Given the description of an element on the screen output the (x, y) to click on. 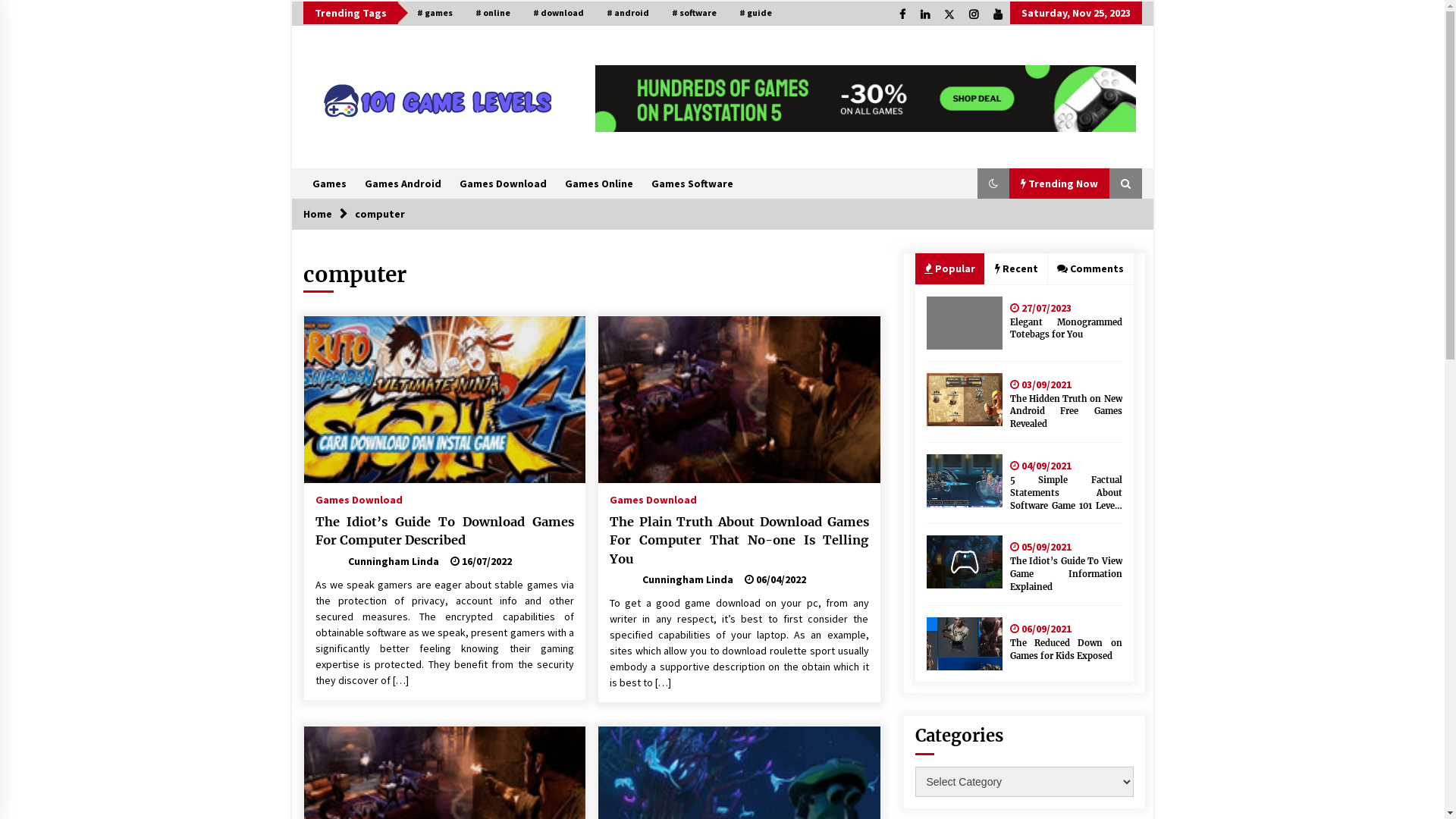
Games Element type: text (329, 183)
The Reduced Down on Games for Kids Exposed Element type: text (1066, 649)
Skip to content Element type: text (291, 0)
Games Software Element type: text (691, 183)
Cunningham Linda Element type: text (377, 560)
Games Android Element type: text (401, 183)
# games Element type: text (433, 12)
# software Element type: text (693, 12)
# online Element type: text (492, 12)
Comments Element type: text (1090, 268)
Home Element type: text (317, 213)
Games Online Element type: text (598, 183)
# android Element type: text (626, 12)
# guide Element type: text (755, 12)
Elegant Monogrammed Totebags for You Element type: text (1066, 329)
Cunningham Linda Element type: text (671, 579)
Popular Element type: text (949, 268)
Games Download Element type: text (502, 183)
The Hidden Truth on New Android Free Games Revealed Element type: text (1066, 411)
computer Element type: text (379, 213)
Recent Element type: text (1016, 268)
# download Element type: text (558, 12)
Games Download Element type: text (652, 495)
Games Download Element type: text (358, 495)
